Given the description of an element on the screen output the (x, y) to click on. 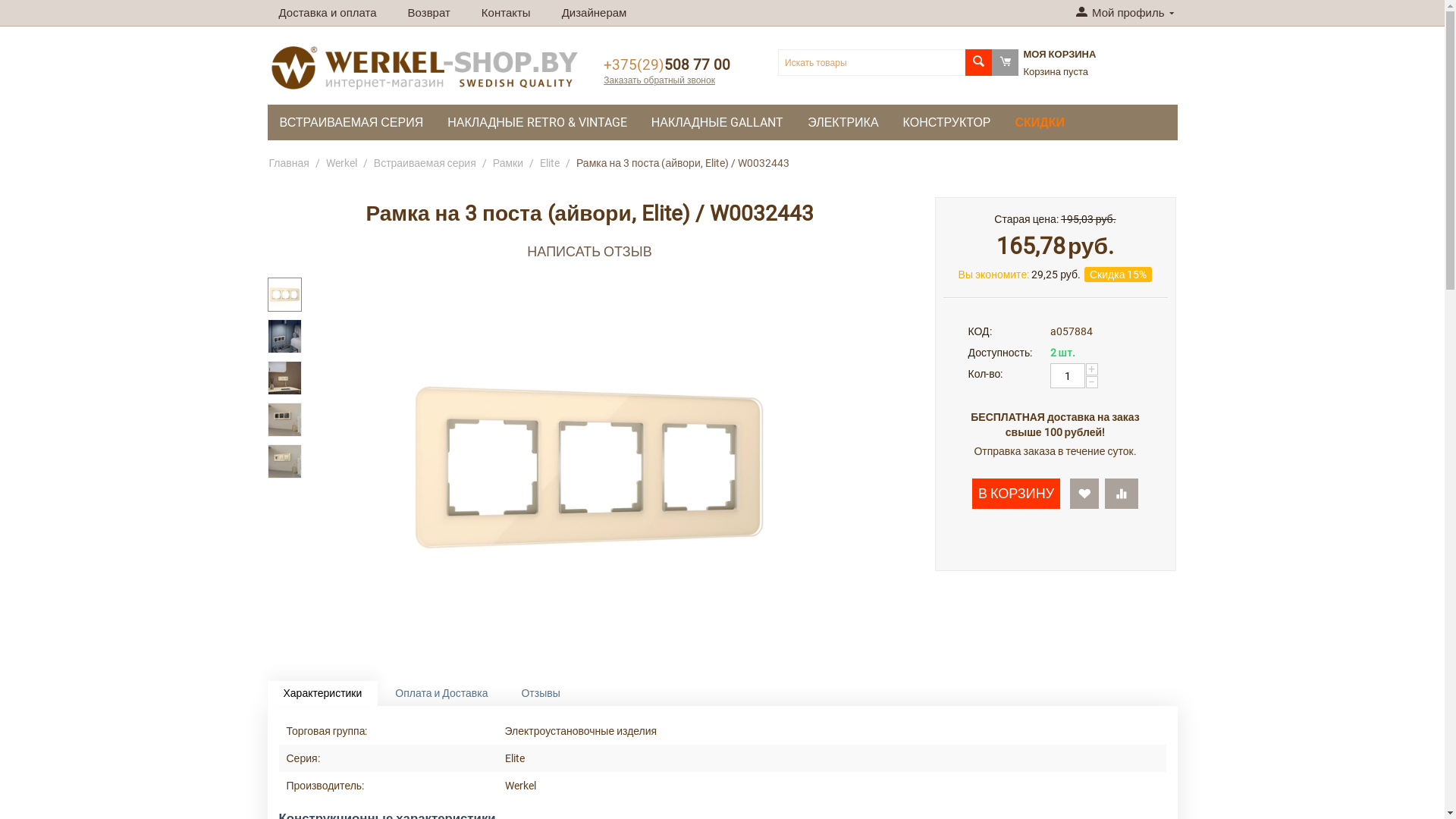
Elite Element type: text (549, 162)
+ Element type: text (1091, 369)
Werkel Element type: text (341, 162)
werkel-shop.by Element type: hover (424, 67)
werkel-shop.by Element type: hover (424, 66)
